Given the description of an element on the screen output the (x, y) to click on. 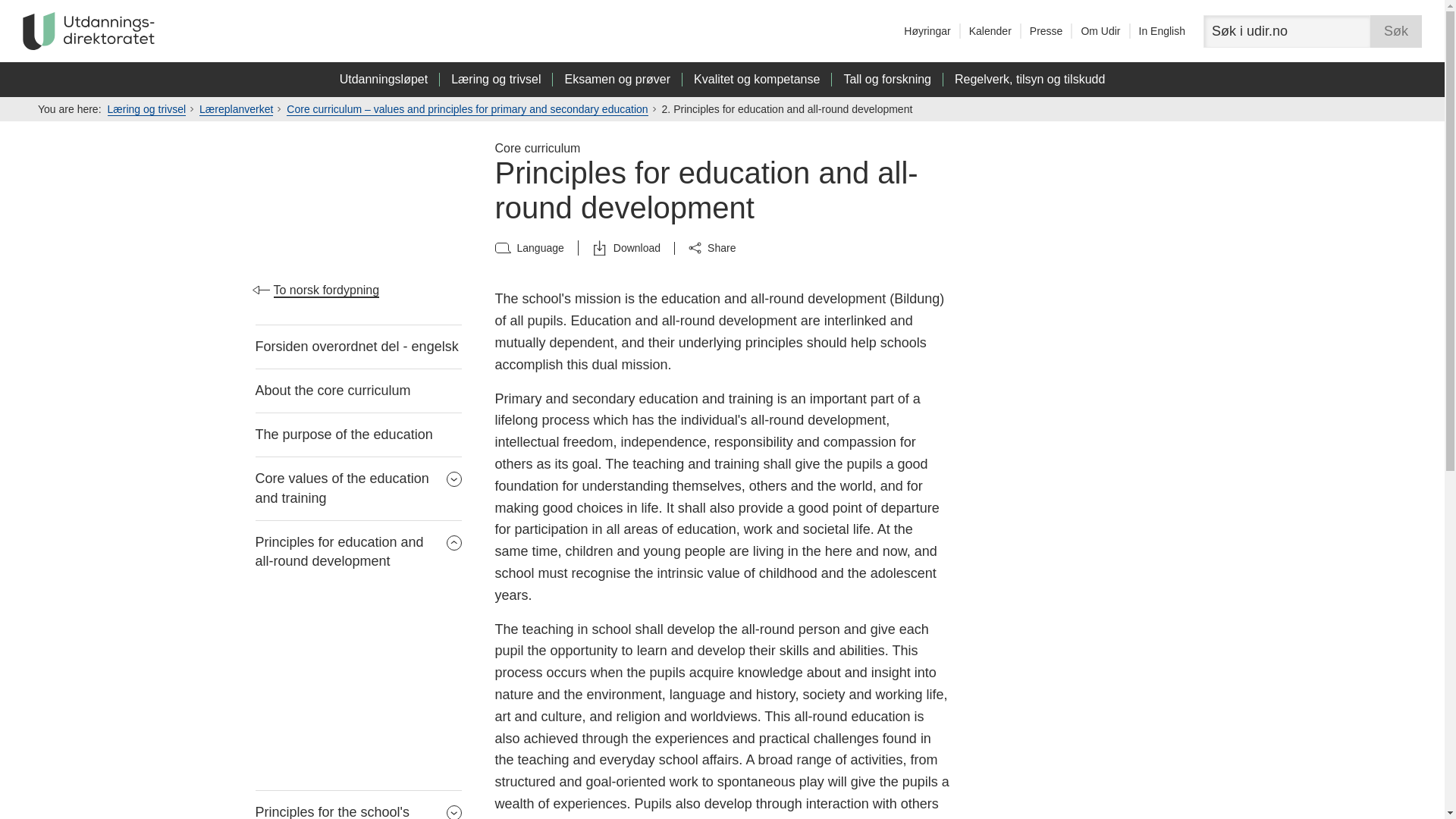
Kalender (990, 30)
In English (1161, 30)
Om Udir (1099, 30)
Presse (1045, 30)
